Given the description of an element on the screen output the (x, y) to click on. 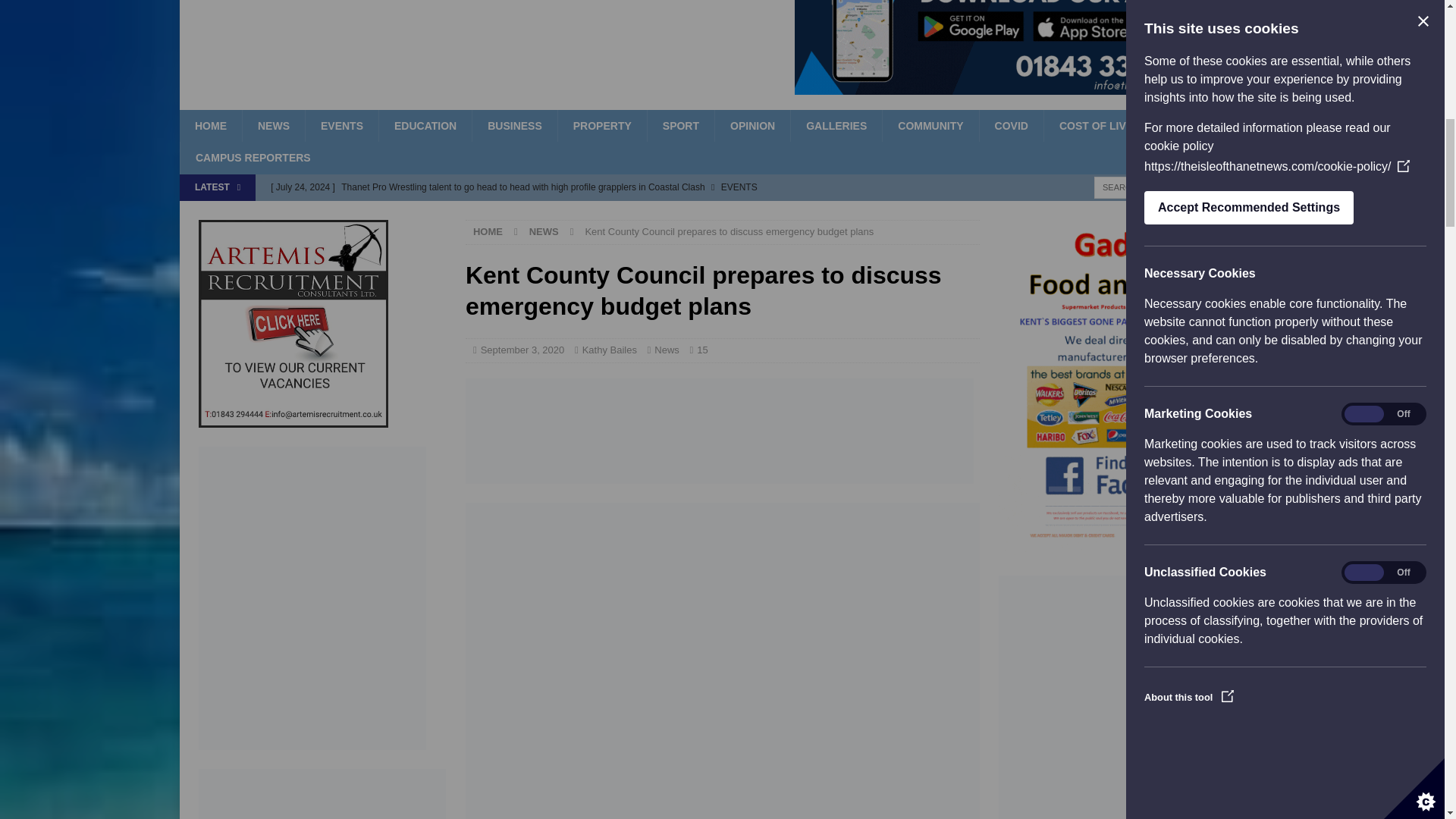
15 (702, 349)
